Given the description of an element on the screen output the (x, y) to click on. 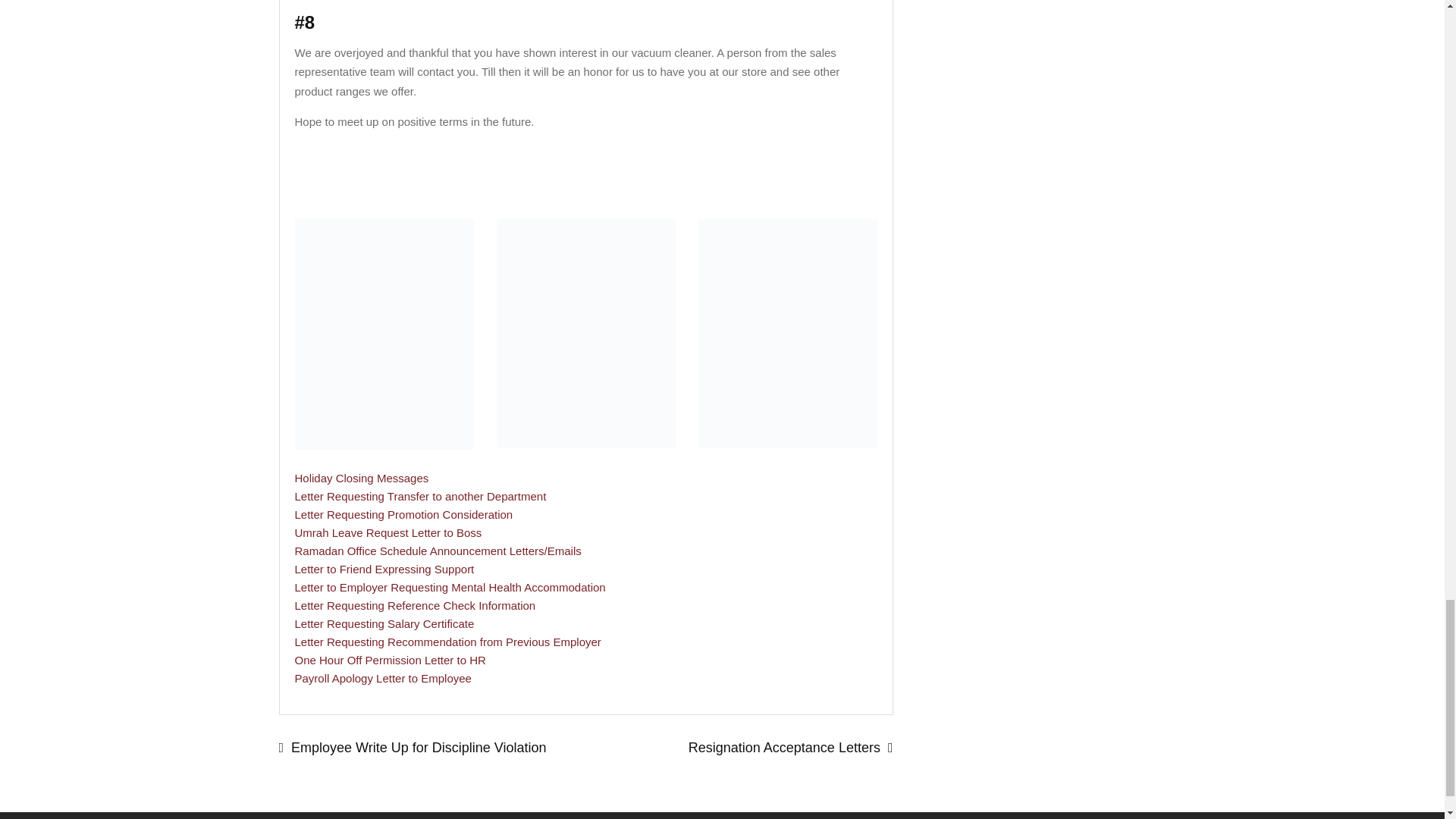
Holiday Closing Messages (361, 477)
Letter to Employer Requesting Mental Health Accommodation (449, 586)
Letter Requesting Reference Check Information (414, 604)
Letter Requesting Transfer to another Department (420, 495)
Employee Write Up for Discipline Violation (432, 748)
Payroll Apology Letter to Employee (382, 677)
Letter to Friend Expressing Support (384, 568)
Resignation Acceptance Letters (738, 748)
Letter Requesting Promotion Consideration (403, 513)
One Hour Off Permission Letter to HR (389, 659)
